Given the description of an element on the screen output the (x, y) to click on. 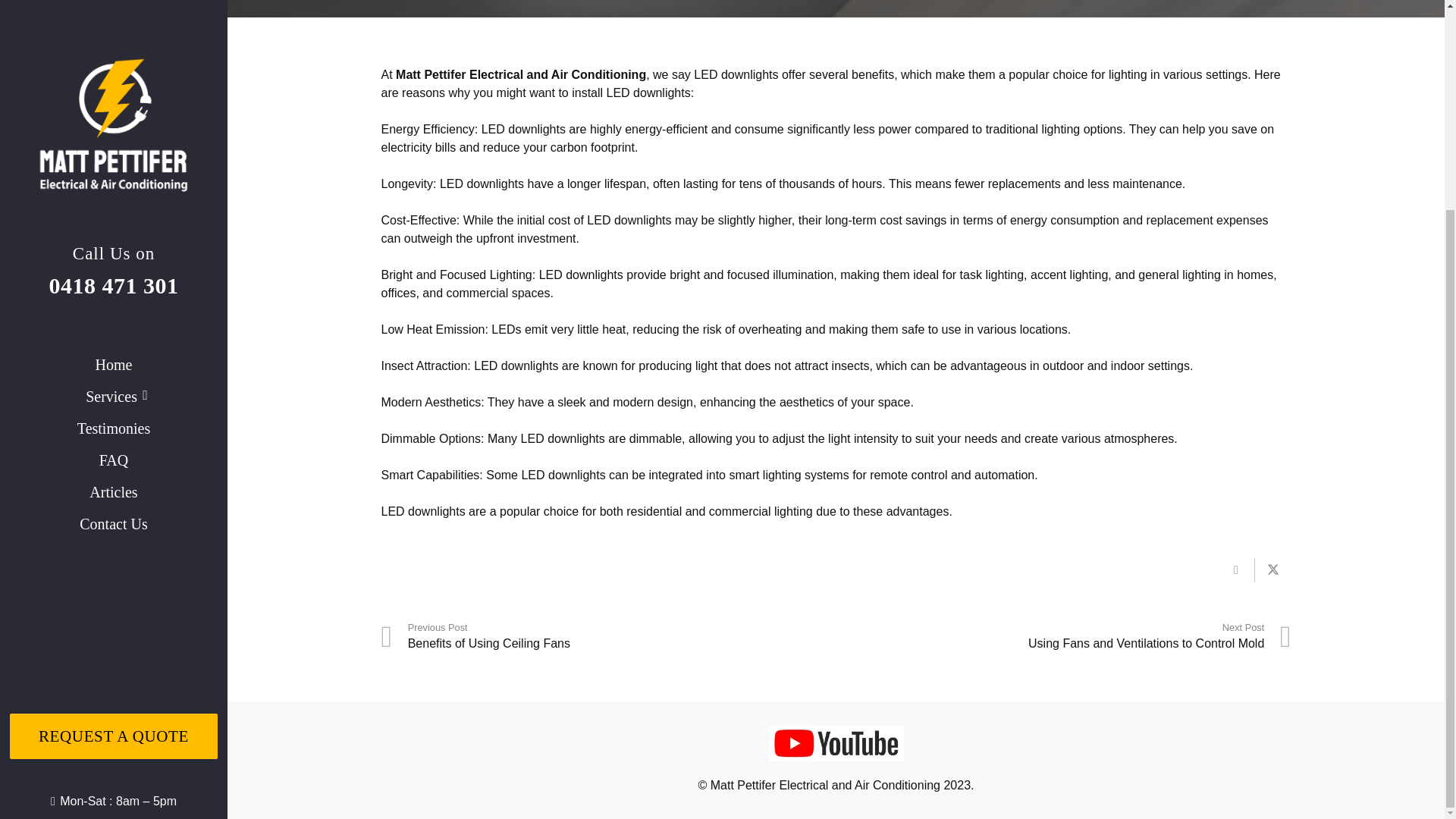
Share this (1235, 569)
Articles (113, 219)
Services (113, 124)
Benefits of Using Ceiling Fans (607, 635)
Tweet this (1271, 569)
Contact Us (113, 251)
FAQ (1062, 635)
Home (113, 187)
Using Fans and Ventilations to Control Mold (113, 92)
0418 471 301 (607, 635)
Testimonies (1062, 635)
REQUEST A QUOTE (112, 12)
